Given the description of an element on the screen output the (x, y) to click on. 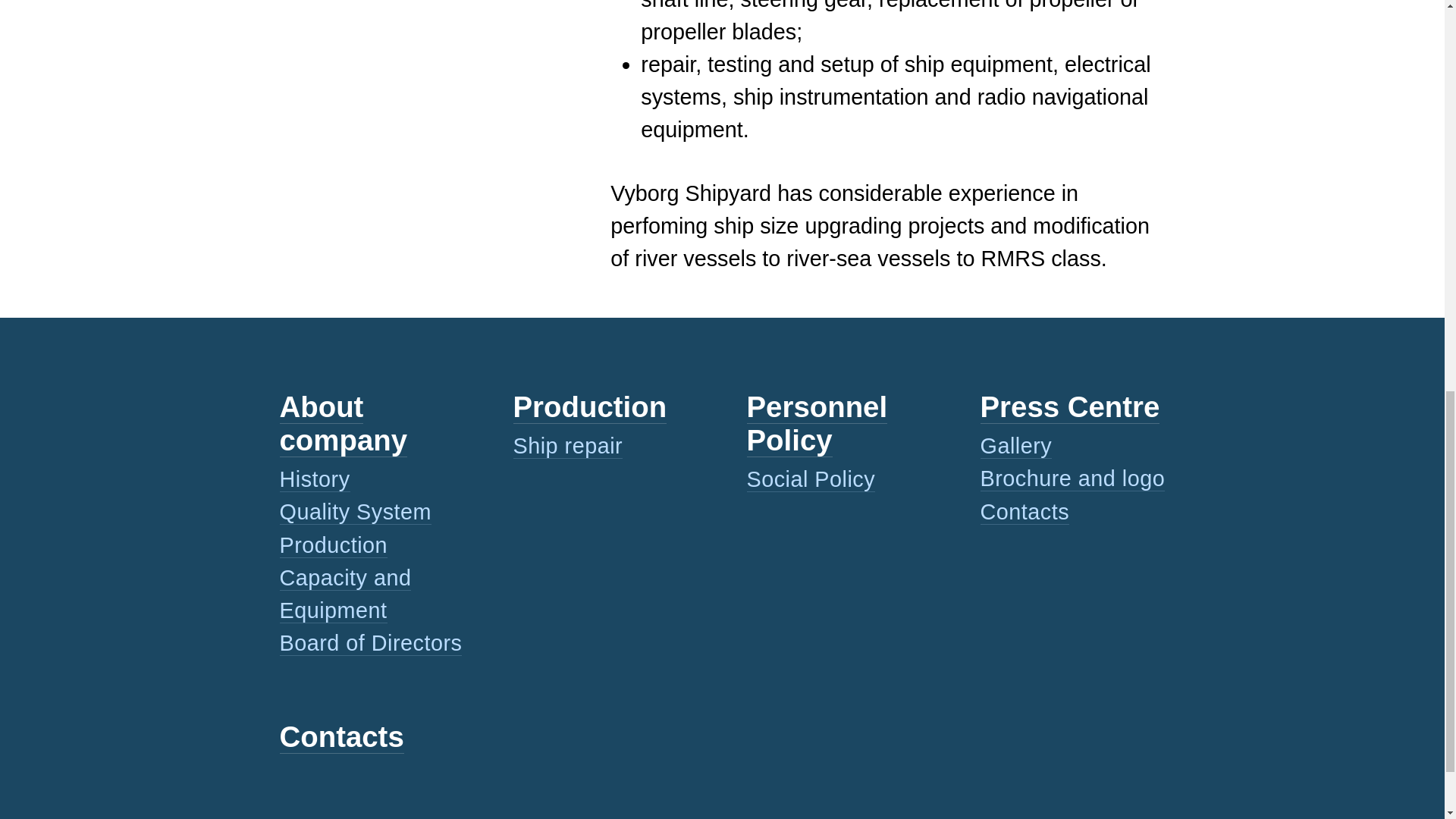
Production Capacity and Equipment (344, 578)
Board of Directors (370, 643)
Production (589, 407)
Contacts (341, 736)
Personnel Policy (815, 423)
Ship repair (567, 446)
Contacts (1023, 511)
History (314, 479)
Quality System (354, 511)
About company (343, 423)
Brochure and logo (1071, 478)
Gallery (1015, 446)
Social Policy (810, 479)
Press Centre (1068, 407)
